Given the description of an element on the screen output the (x, y) to click on. 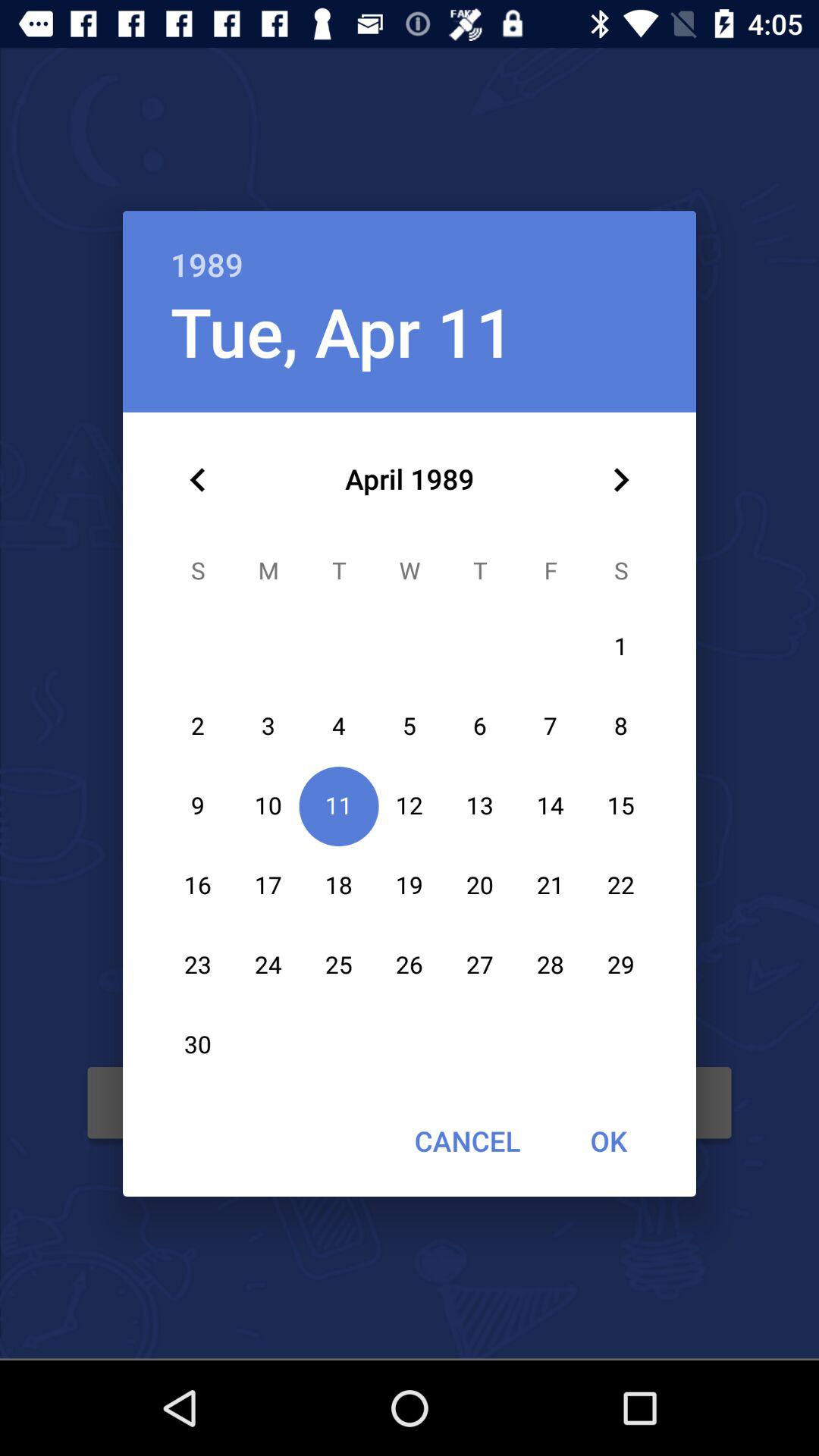
select the icon at the bottom (467, 1140)
